Given the description of an element on the screen output the (x, y) to click on. 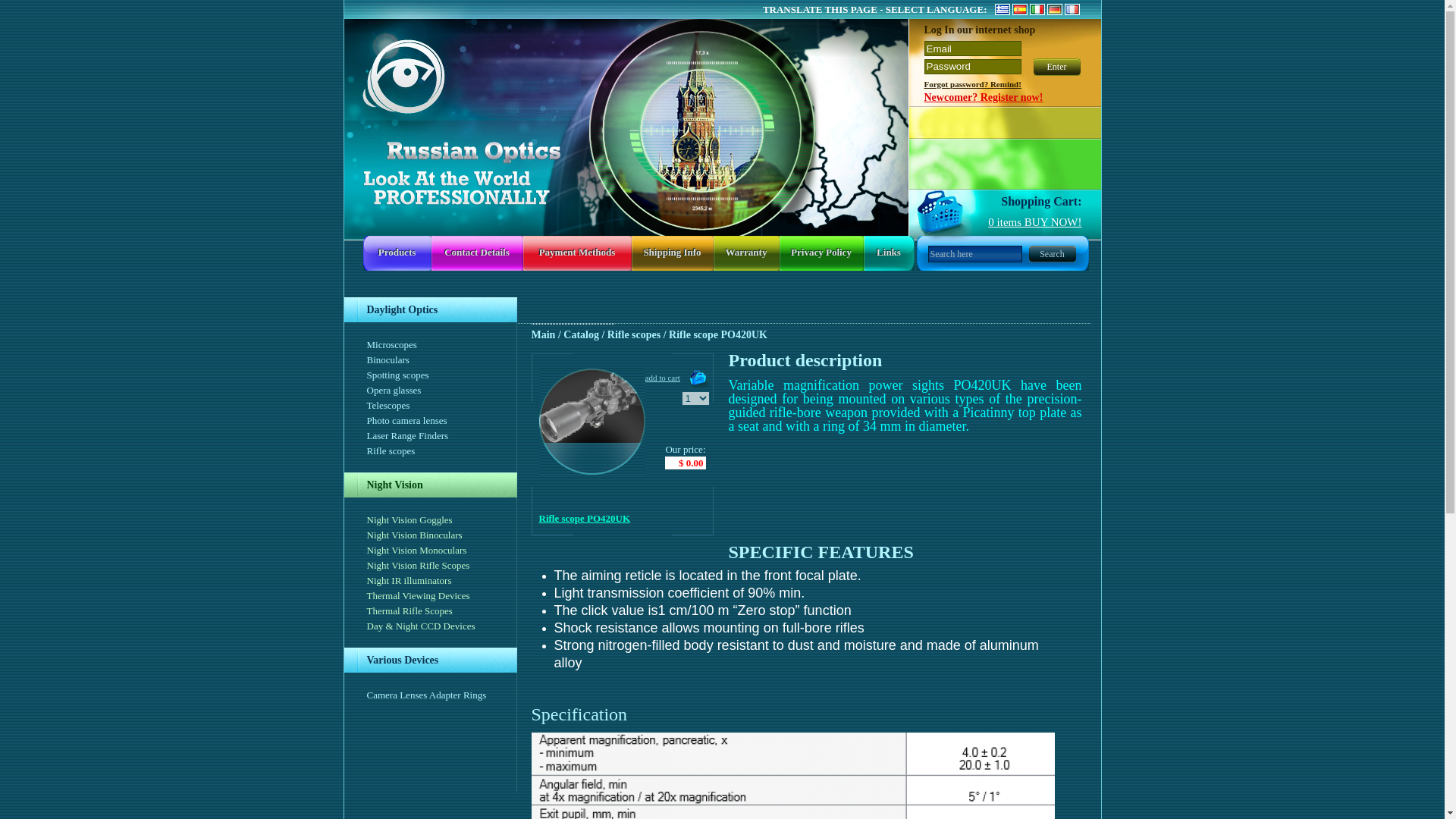
Night Vision Monoculars (416, 550)
Translate to el (1002, 9)
Contact Details (476, 251)
Spotting scopes (397, 374)
Products (397, 251)
Translate to de (1055, 9)
Night Vision Binoculars (414, 534)
Translate to es (1020, 9)
Night Vision Goggles (409, 519)
Photo camera lenses (406, 419)
add to cart (677, 377)
Warranty (746, 251)
Thermal Viewing Devices (418, 595)
Night Vision Rifle Scopes (418, 564)
Shipping Info (671, 251)
